Given the description of an element on the screen output the (x, y) to click on. 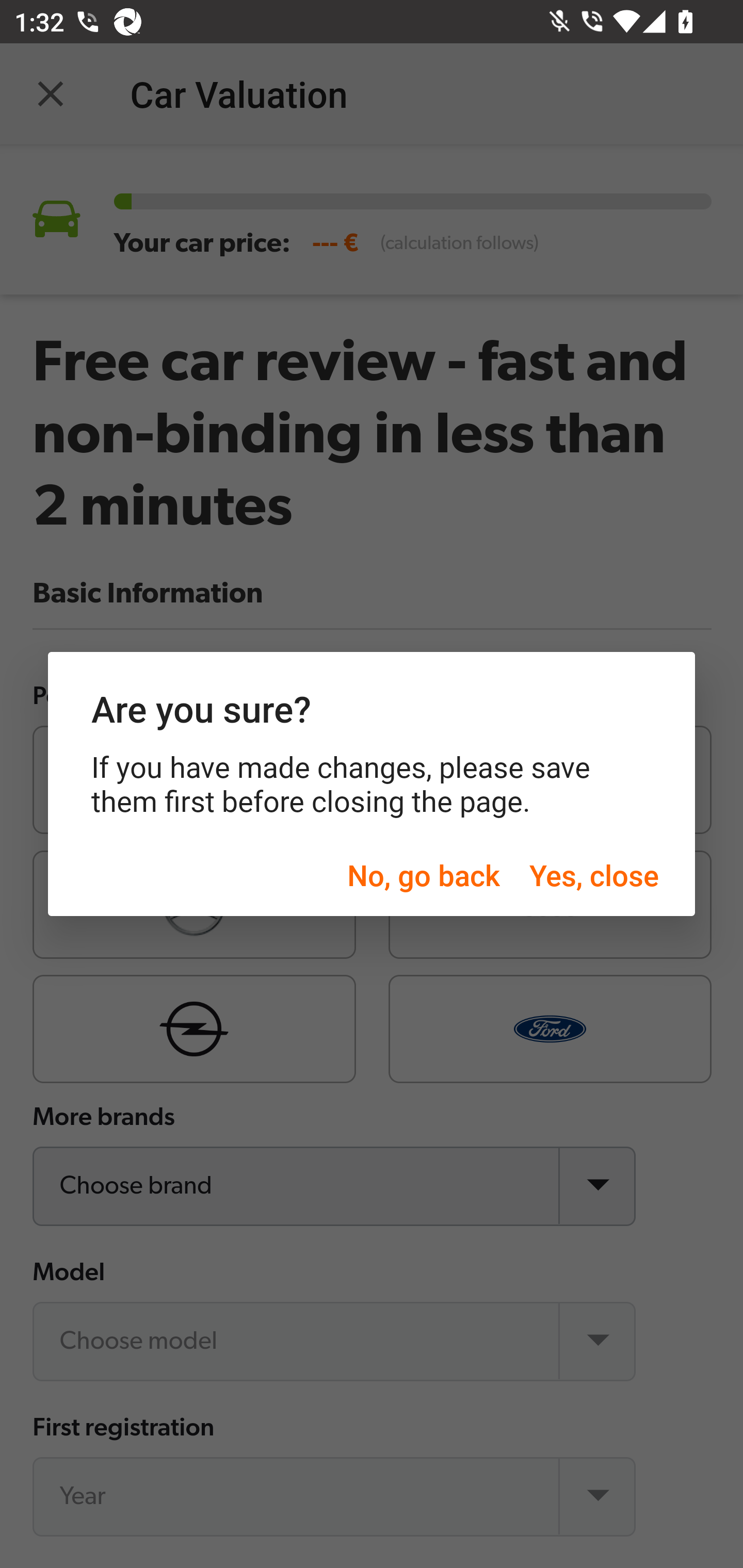
No, go back (423, 874)
Yes, close (593, 874)
